Given the description of an element on the screen output the (x, y) to click on. 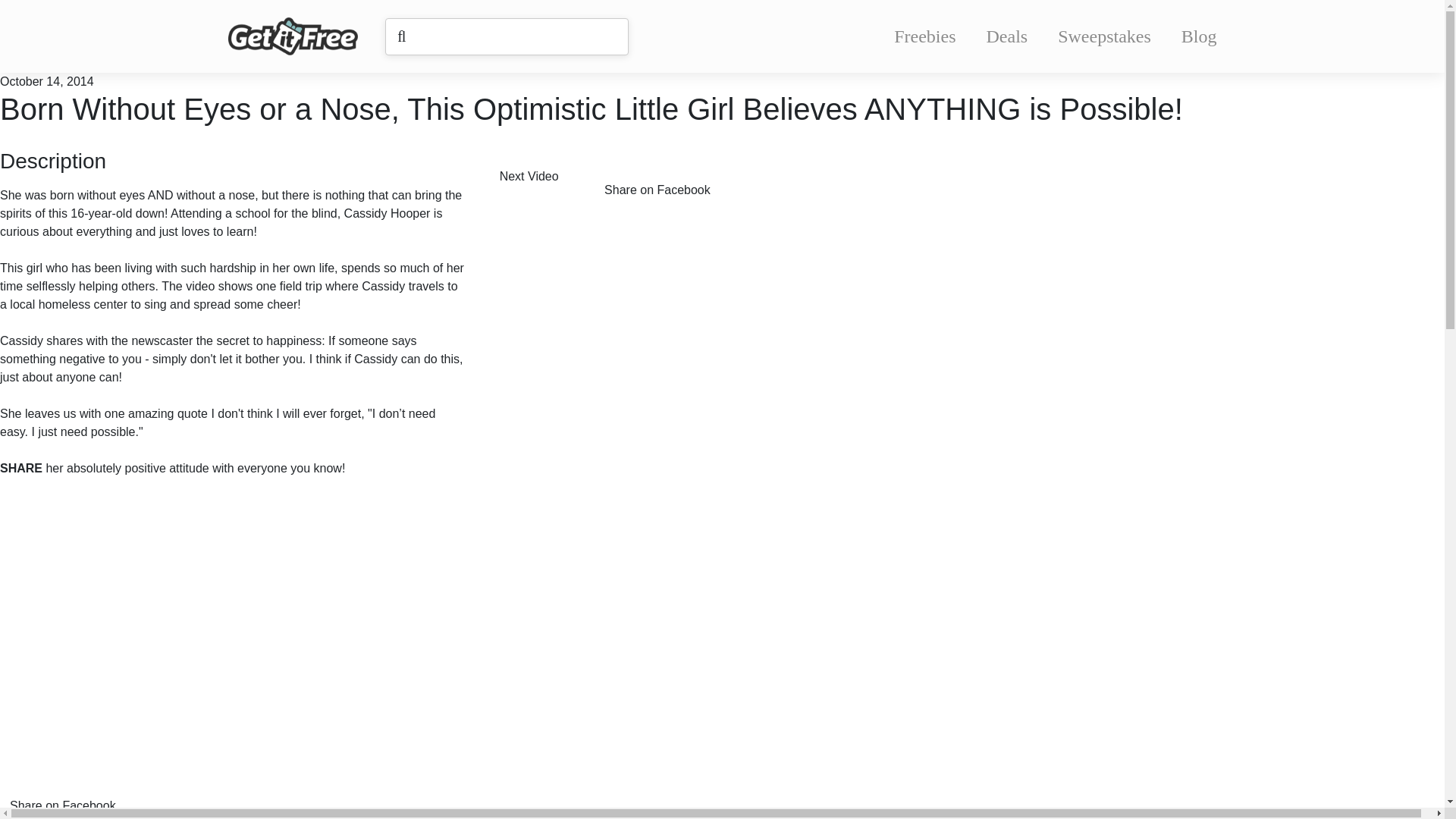
Blog (1198, 35)
Sweepstakes (1104, 35)
Next Video (540, 178)
Share on Facebook (668, 178)
Deals (1007, 35)
Freebies (924, 35)
Share on Facebook (74, 791)
